Given the description of an element on the screen output the (x, y) to click on. 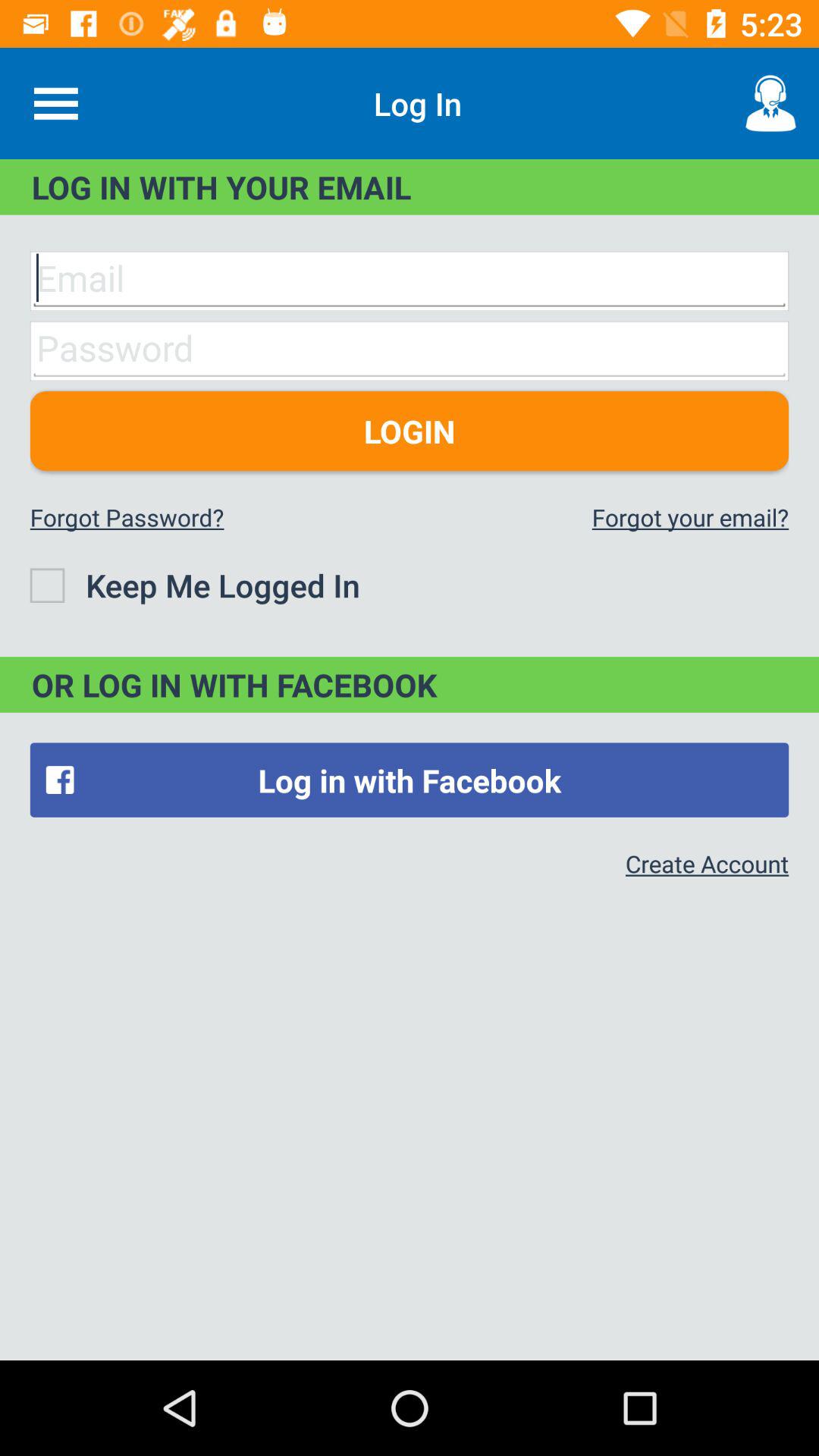
turn off item below the log in with (706, 863)
